Given the description of an element on the screen output the (x, y) to click on. 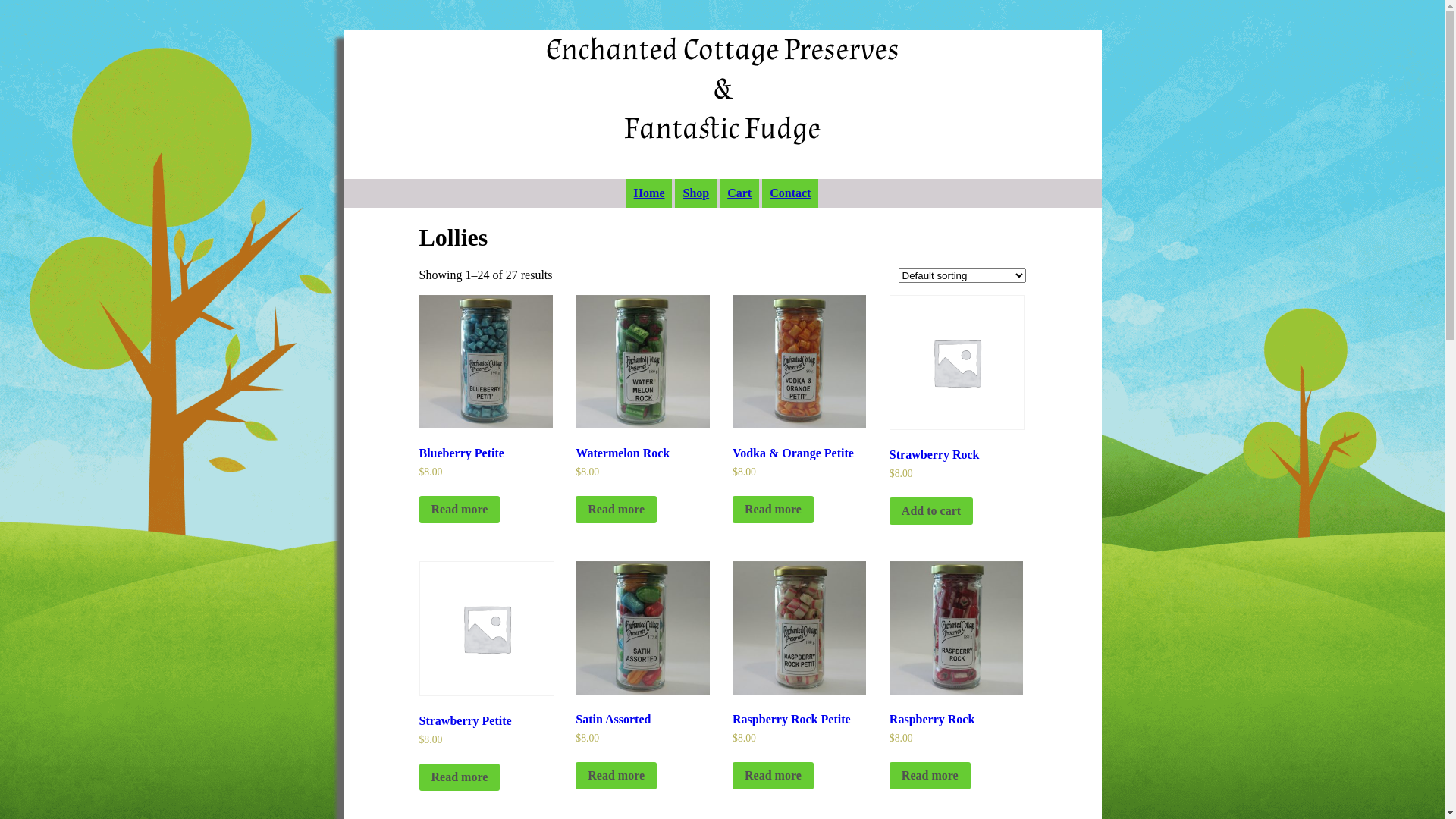
Raspberry Rock Petite
$8.00 Element type: text (799, 671)
Read more Element type: text (772, 509)
Read more Element type: text (615, 775)
Contact Element type: text (790, 192)
Read more Element type: text (929, 775)
Shop Element type: text (695, 192)
Home Element type: text (649, 192)
Strawberry Petite
$8.00 Element type: text (485, 672)
Add to cart Element type: text (930, 510)
Read more Element type: text (458, 776)
Read more Element type: text (772, 775)
Strawberry Rock
$8.00 Element type: text (955, 405)
Watermelon Rock
$8.00 Element type: text (642, 404)
Raspberry Rock
$8.00 Element type: text (955, 671)
Vodka & Orange Petite
$8.00 Element type: text (799, 404)
Cart Element type: text (739, 192)
Satin Assorted
$8.00 Element type: text (642, 671)
Read more Element type: text (615, 509)
Blueberry Petite
$8.00 Element type: text (485, 404)
Read more Element type: text (458, 509)
